Given the description of an element on the screen output the (x, y) to click on. 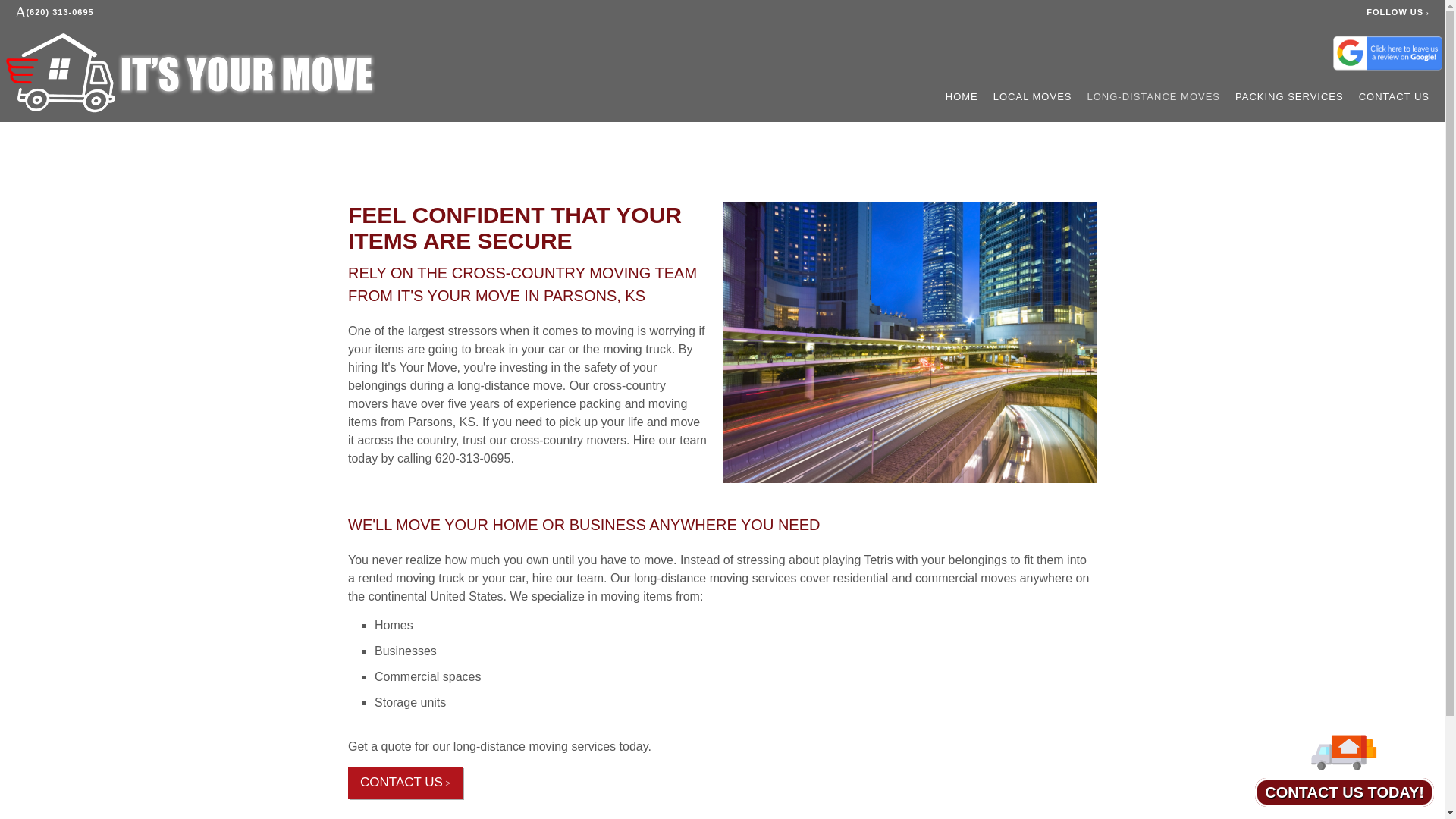
CONTACT US TODAY! (1344, 785)
LONG-DISTANCE MOVES (1154, 96)
LOCAL MOVES (1031, 96)
PACKING SERVICES (1288, 96)
HOME (961, 96)
CONTACT US (1393, 96)
CONTACT US (405, 782)
